Given the description of an element on the screen output the (x, y) to click on. 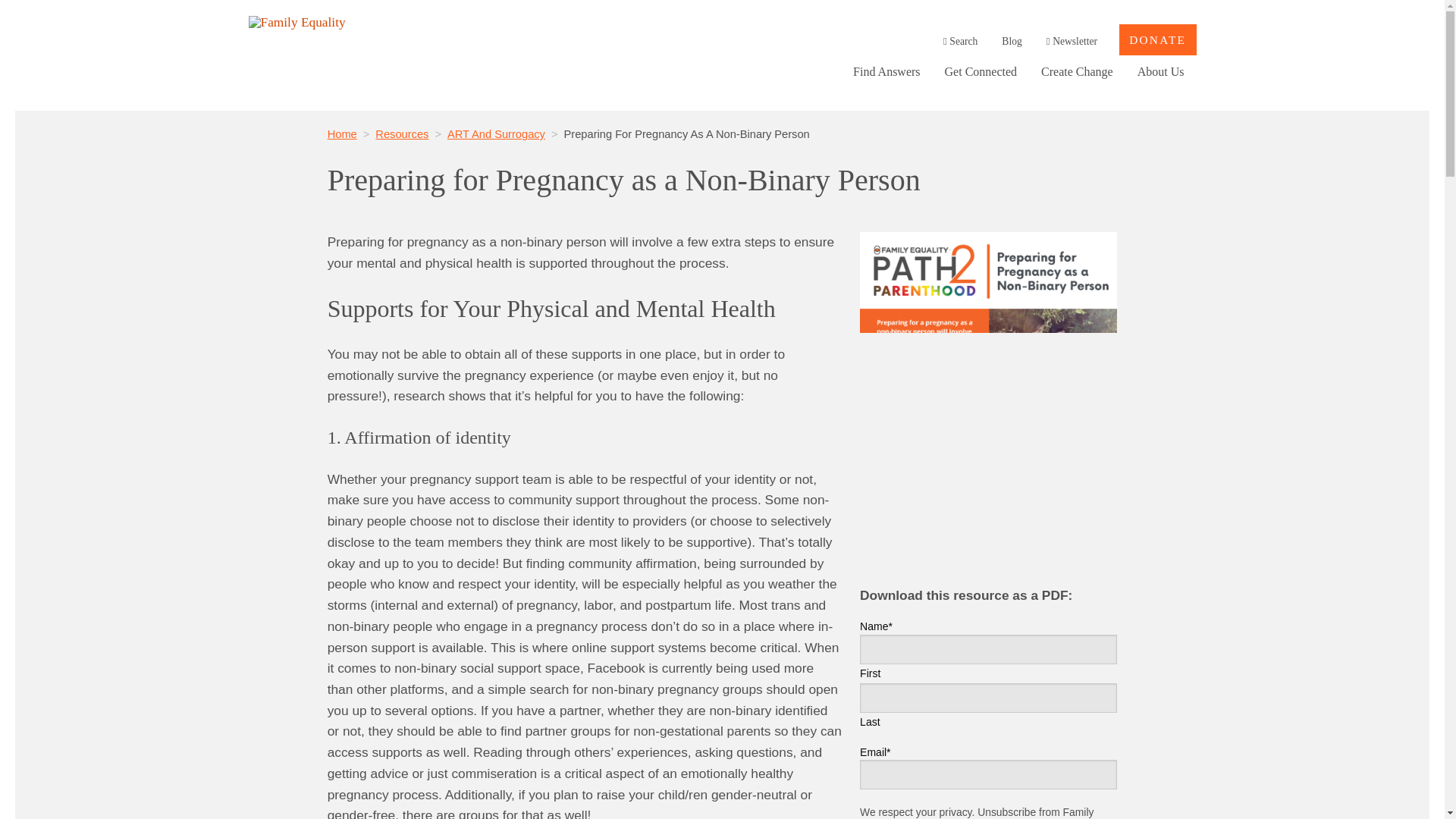
Go to Resources. (401, 133)
Find Answers (886, 71)
Blog (1011, 40)
Go to the ART and Surrogacy Topic archives. (495, 133)
Search (960, 40)
Home (341, 133)
Resources (401, 133)
About Us (1160, 71)
ART And Surrogacy (495, 133)
Create Change (1077, 71)
